Given the description of an element on the screen output the (x, y) to click on. 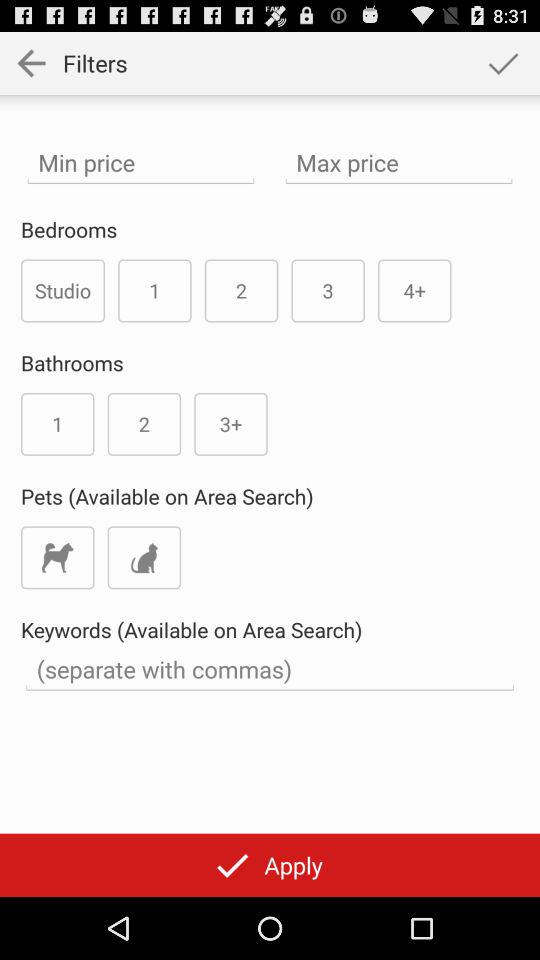
click the icon above the bathrooms item (63, 290)
